Given the description of an element on the screen output the (x, y) to click on. 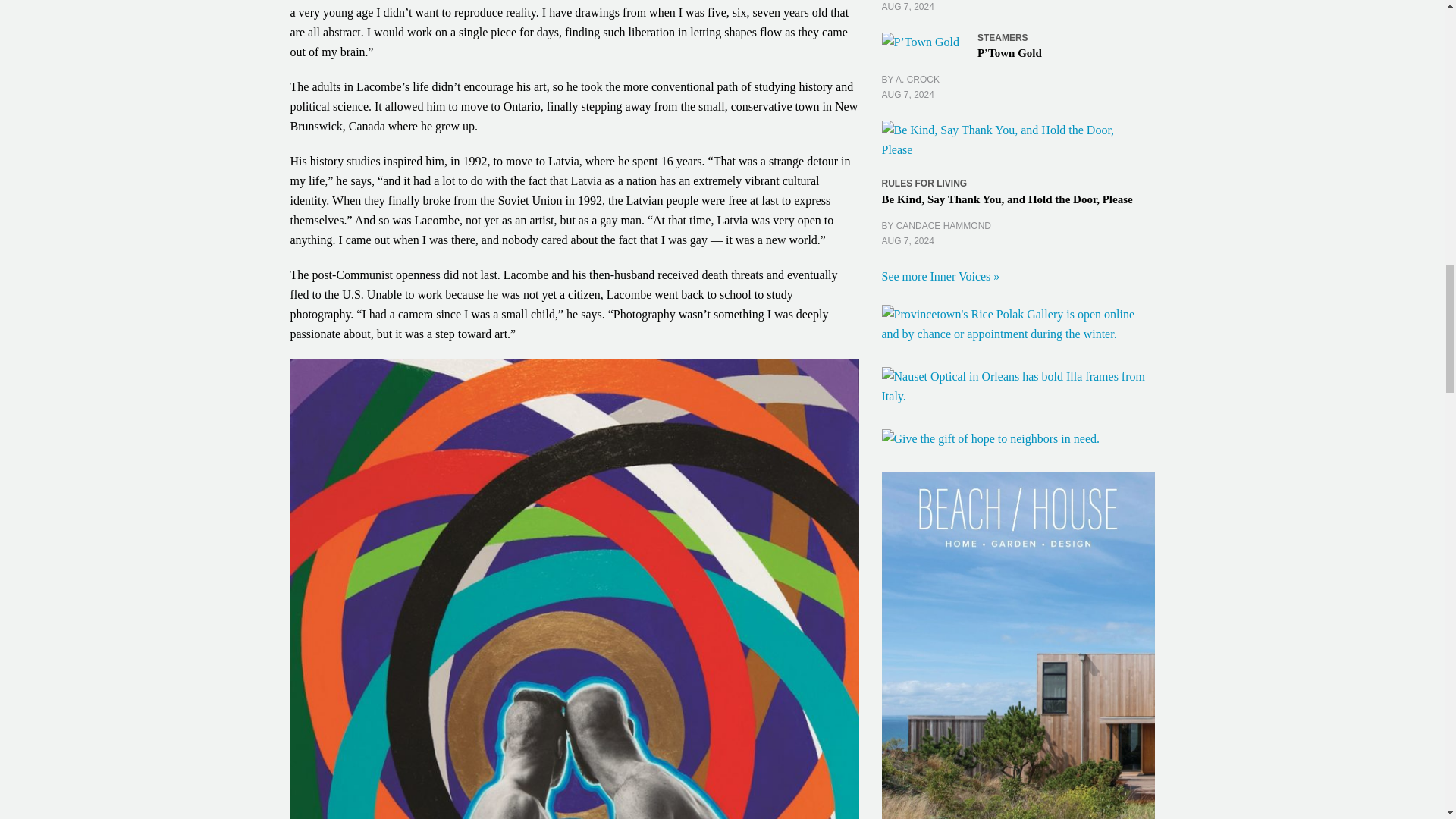
More from this category (923, 183)
More from this category (1001, 37)
Inner Voices (939, 276)
